Given the description of an element on the screen output the (x, y) to click on. 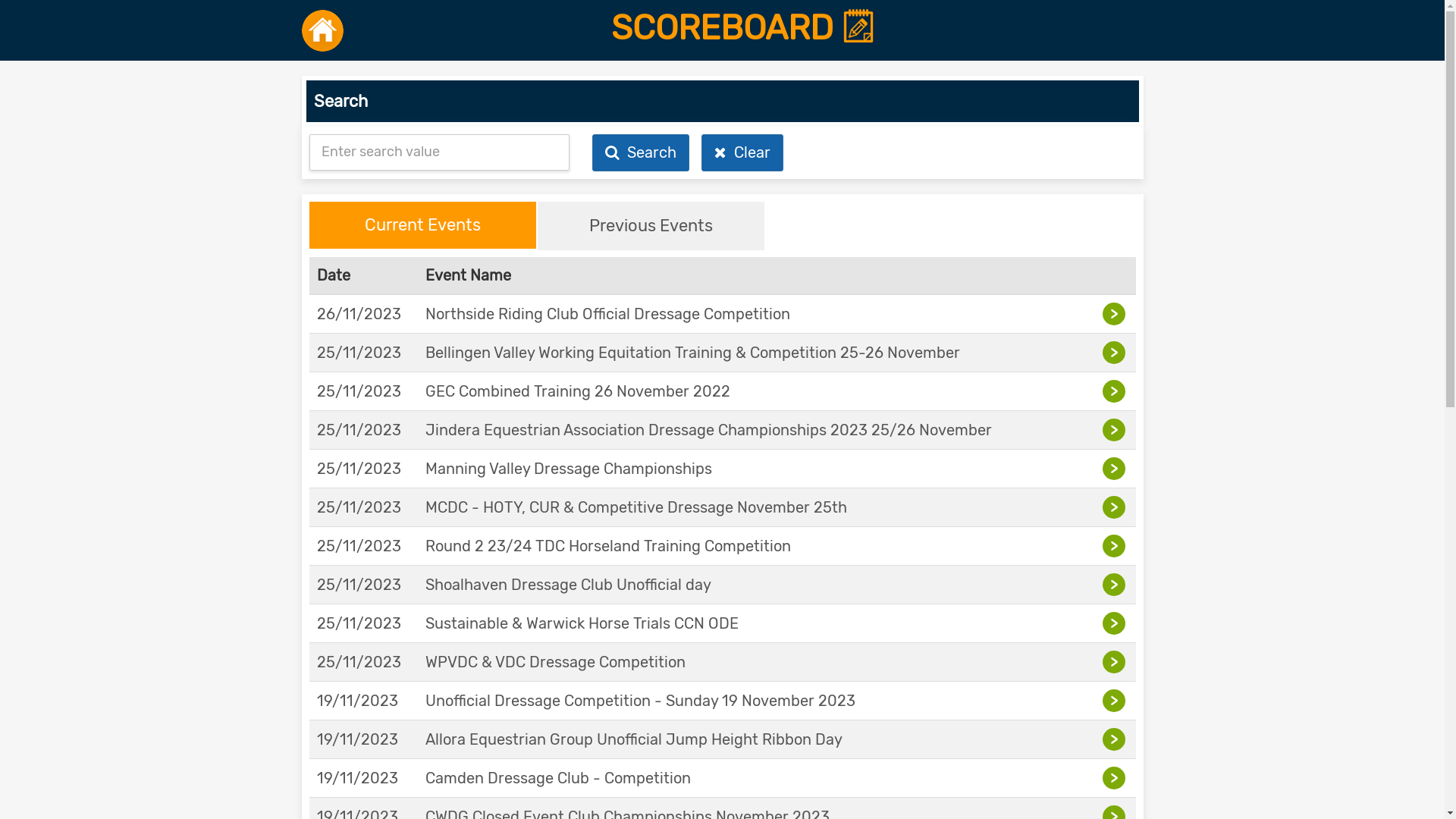
19/11/2023 Element type: text (357, 739)
25/11/2023 Element type: text (358, 429)
> Element type: text (1115, 313)
Previous Events Element type: text (650, 225)
25/11/2023 Element type: text (358, 507)
25/11/2023 Element type: text (358, 468)
GEC Combined Training 26 November 2022 Element type: text (577, 391)
19/11/2023 Element type: text (357, 777)
> Element type: text (1115, 390)
25/11/2023 Element type: text (358, 391)
WPVDC & VDC Dressage Competition Element type: text (555, 661)
25/11/2023 Element type: text (358, 545)
> Element type: text (1115, 700)
> Element type: text (1115, 468)
> Element type: text (1115, 584)
Sustainable & Warwick Horse Trials CCN ODE Element type: text (581, 623)
25/11/2023 Element type: text (358, 623)
Camden Dressage Club - Competition Element type: text (557, 777)
> Element type: text (1115, 661)
25/11/2023 Element type: text (358, 584)
> Element type: text (1115, 506)
Round 2 23/24 TDC Horseland Training Competition Element type: text (607, 545)
Shoalhaven Dressage Club Unofficial day Element type: text (568, 584)
Current Events Element type: text (422, 224)
Allora Equestrian Group Unofficial Jump Height Ribbon Day Element type: text (633, 739)
Unofficial Dressage Competition - Sunday 19 November 2023 Element type: text (640, 700)
Northside Riding Club Official Dressage Competition Element type: text (607, 313)
Back to Home Element type: hover (322, 30)
SCOREBOARD Element type: text (743, 28)
> Element type: text (1115, 622)
> Element type: text (1115, 777)
26/11/2023 Element type: text (358, 313)
  Clear Element type: text (742, 152)
> Element type: text (1115, 429)
19/11/2023 Element type: text (357, 700)
> Element type: text (1115, 352)
MCDC - HOTY, CUR & Competitive Dressage November 25th Element type: text (636, 507)
  Search Element type: text (640, 152)
Manning Valley Dressage Championships Element type: text (568, 468)
25/11/2023 Element type: text (358, 352)
> Element type: text (1115, 739)
25/11/2023 Element type: text (358, 661)
> Element type: text (1115, 545)
